Given the description of an element on the screen output the (x, y) to click on. 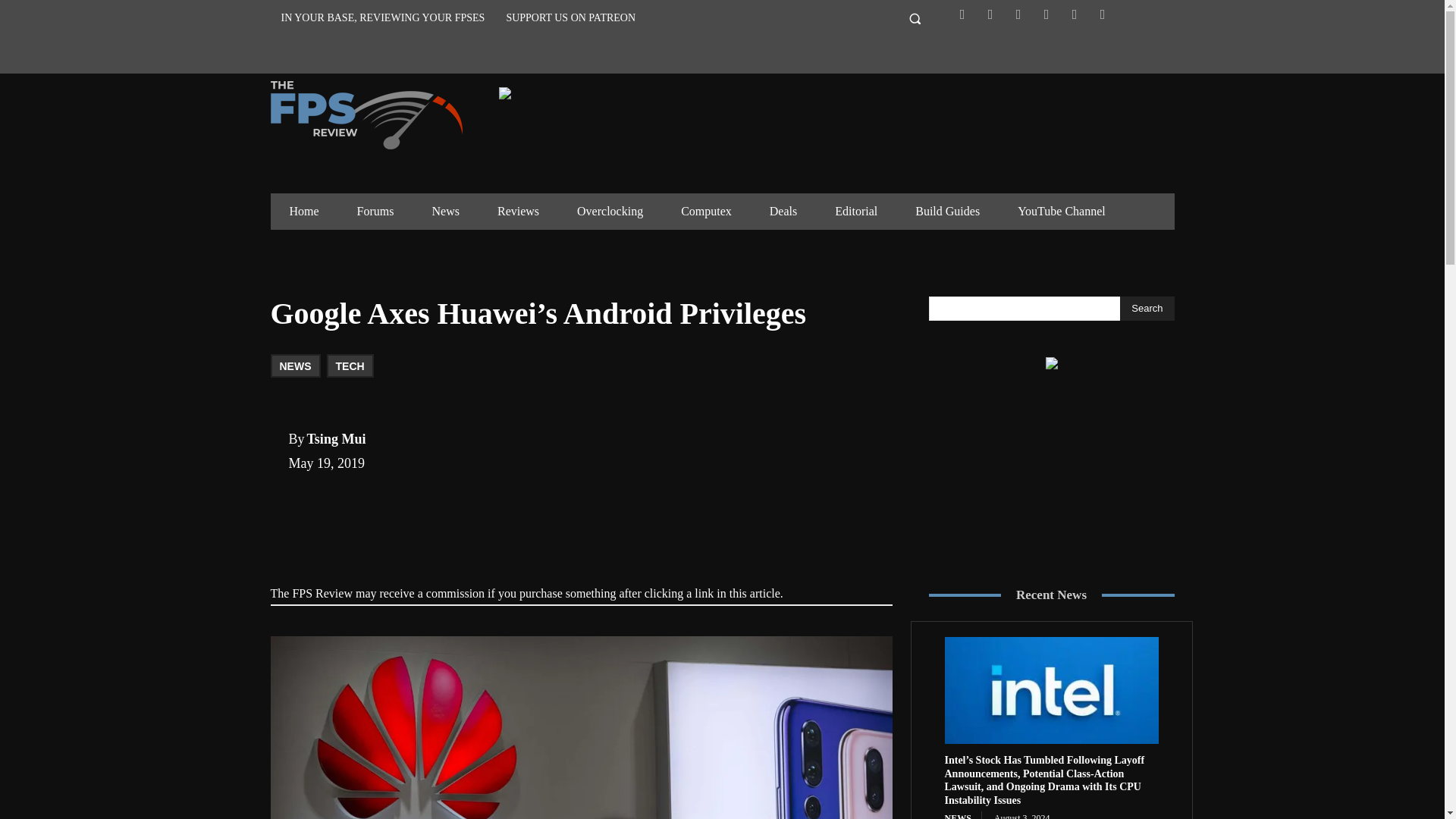
Instagram (1018, 13)
Facebook (962, 13)
Flipboard (990, 13)
Patreon (1045, 13)
